Given the description of an element on the screen output the (x, y) to click on. 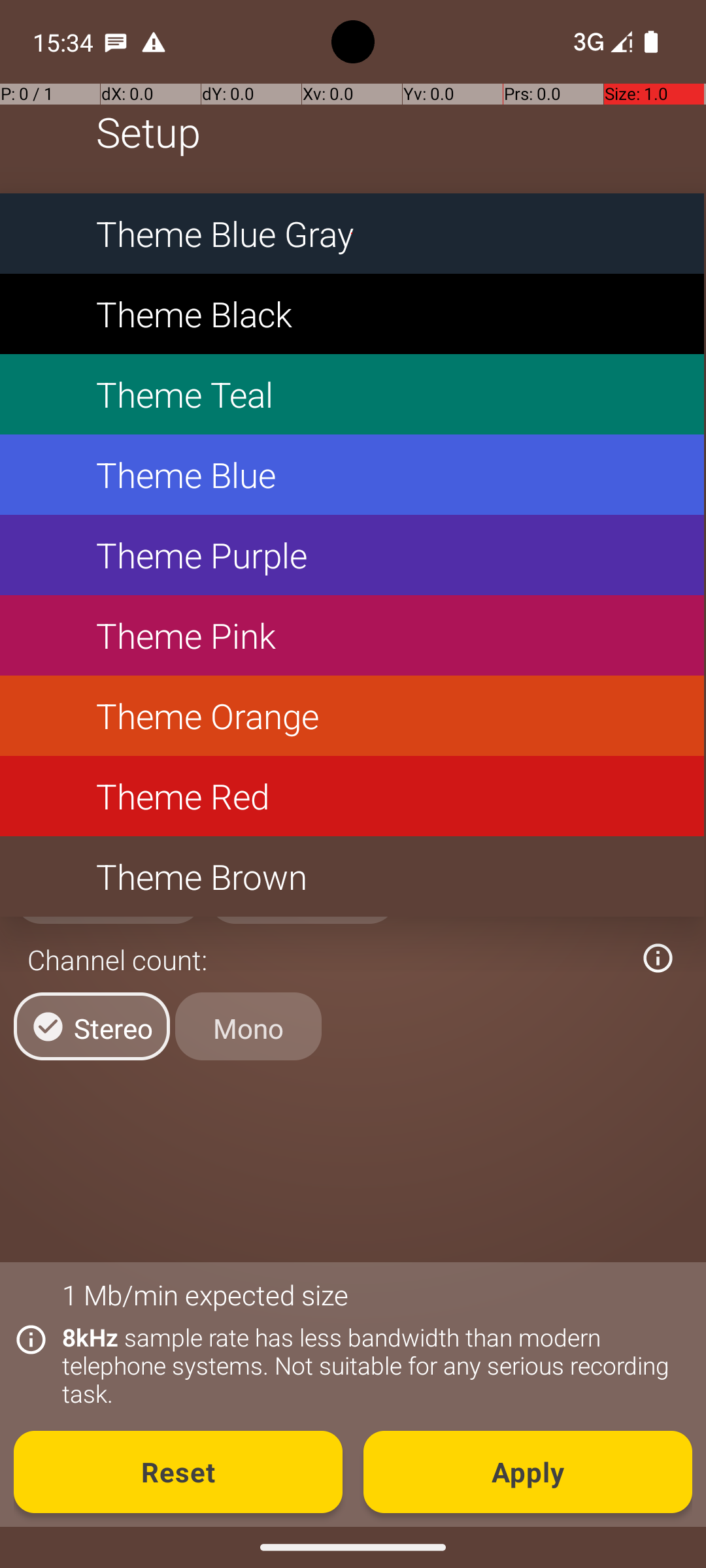
Theme Blue Gray Element type: android.widget.TextView (352, 233)
Theme Black Element type: android.widget.TextView (352, 313)
Theme Teal Element type: android.widget.TextView (352, 394)
Theme Blue Element type: android.widget.TextView (352, 474)
Theme Purple Element type: android.widget.TextView (352, 554)
Theme Pink Element type: android.widget.TextView (352, 635)
Theme Orange Element type: android.widget.TextView (352, 715)
Theme Red Element type: android.widget.TextView (352, 795)
Theme Brown Element type: android.widget.TextView (352, 876)
15:34 Element type: android.widget.TextView (64, 41)
SMS Messenger notification:  Element type: android.widget.ImageView (115, 41)
Android System notification: Data warning Element type: android.widget.ImageView (153, 41)
Phone two bars. Element type: android.widget.FrameLayout (600, 41)
Battery 100 percent. Element type: android.widget.LinearLayout (650, 41)
No internet Element type: android.widget.ImageView (587, 41)
